Given the description of an element on the screen output the (x, y) to click on. 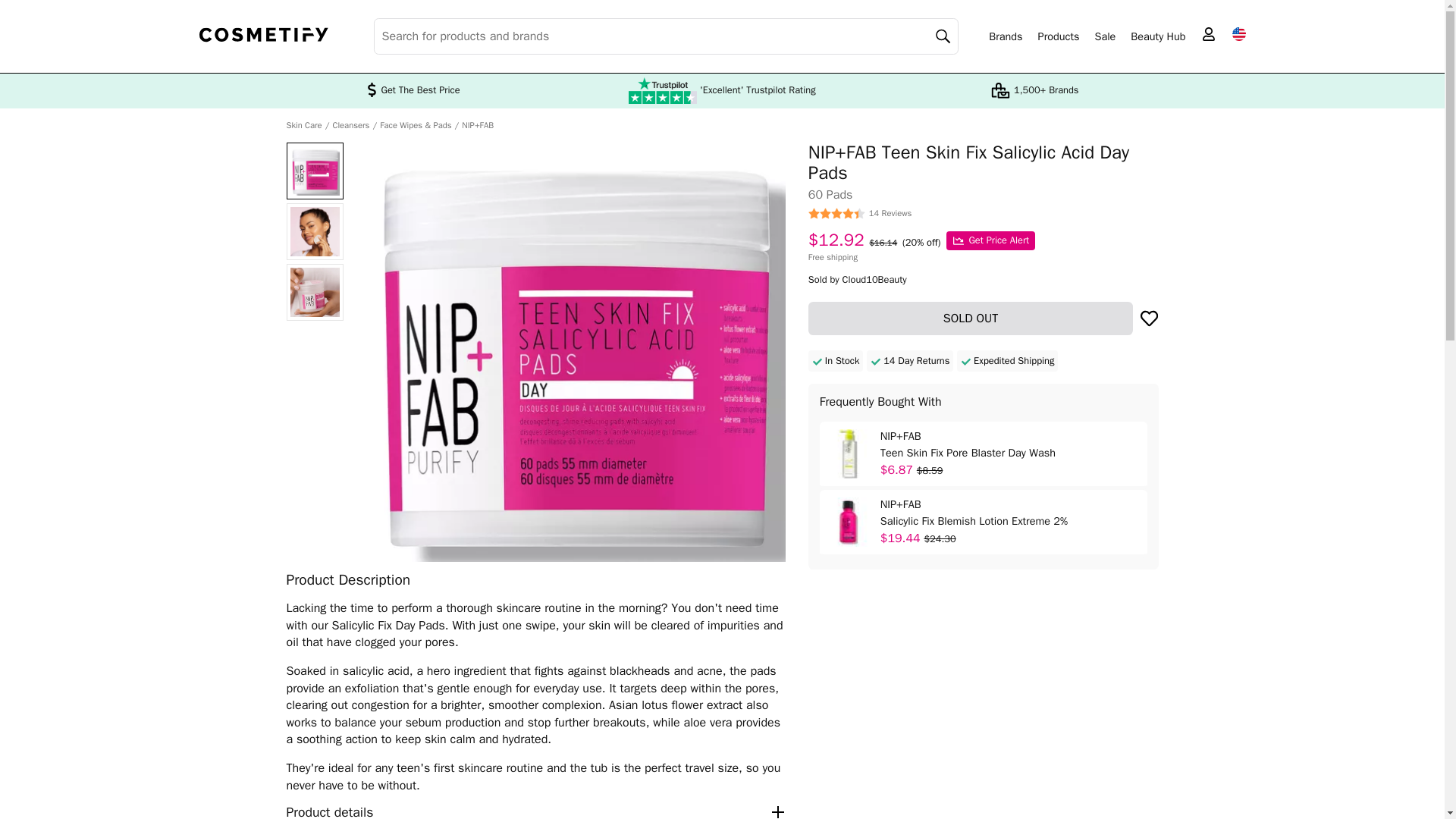
Beauty Hub (1158, 36)
Products (1059, 36)
Brands (1005, 36)
Sale (1104, 36)
